Given the description of an element on the screen output the (x, y) to click on. 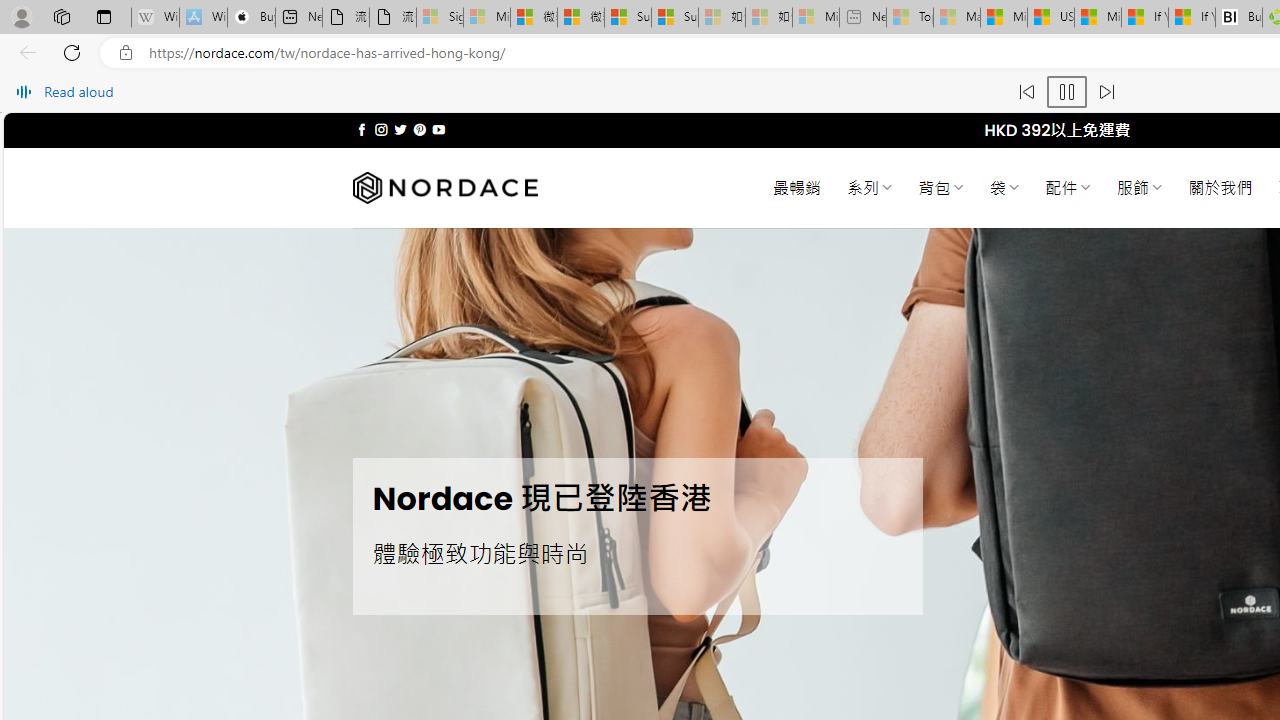
Pause read aloud (Ctrl+Shift+U) (1065, 92)
Top Stories - MSN - Sleeping (910, 17)
